Given the description of an element on the screen output the (x, y) to click on. 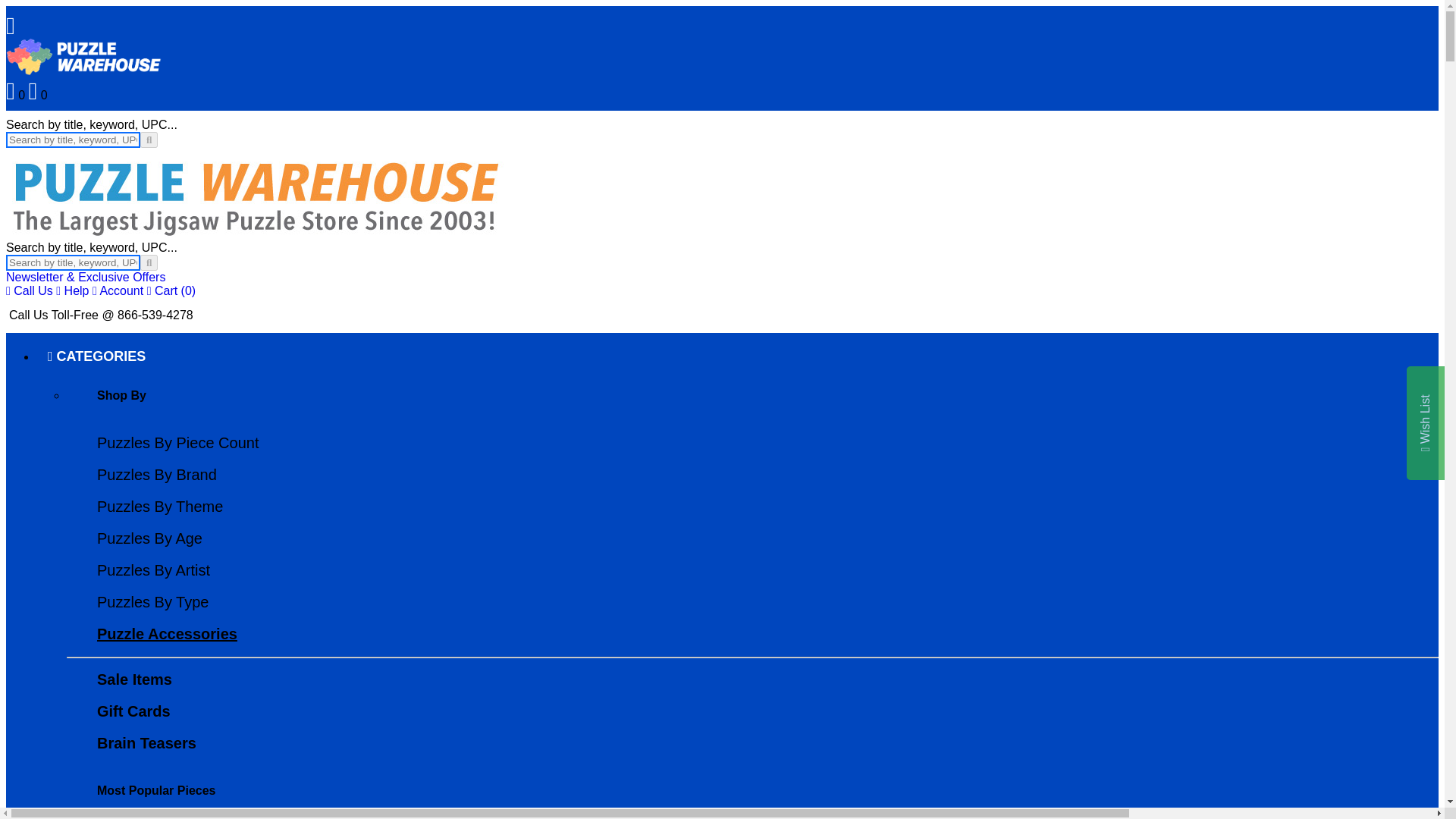
Call Us (28, 290)
Puzzles By Artist (153, 569)
Puzzles By Theme (159, 506)
Gift Cards (133, 710)
Sale Items (134, 678)
Account (117, 290)
Puzzles By Type (152, 601)
Puzzle Accessories (167, 633)
Puzzles By Age (149, 538)
Brain Teasers (146, 742)
